Given the description of an element on the screen output the (x, y) to click on. 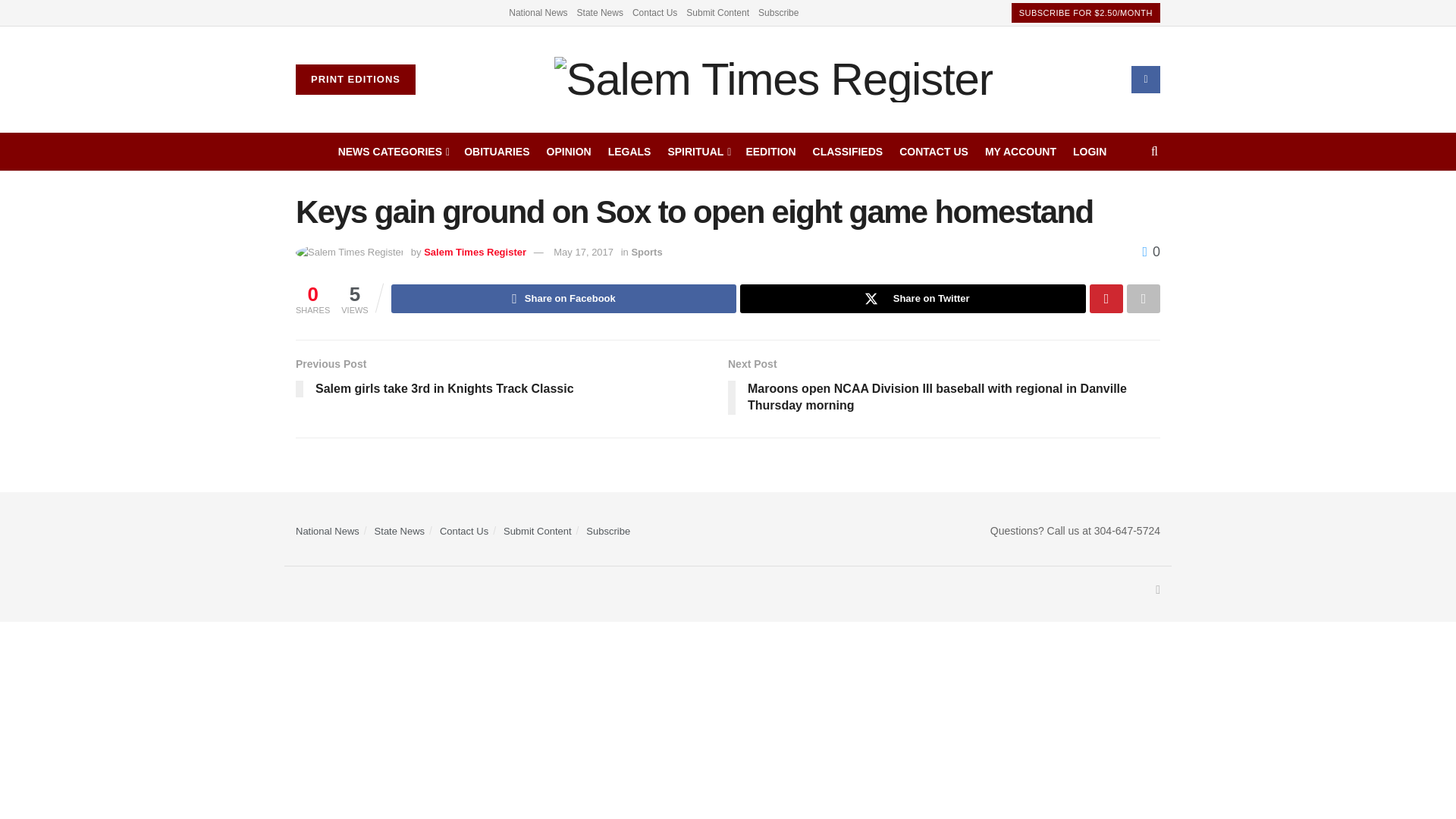
LOGIN (1089, 151)
CLASSIFIEDS (847, 151)
Subscribe (777, 12)
MY ACCOUNT (1021, 151)
NEWS CATEGORIES (392, 151)
EEDITION (769, 151)
National News (537, 12)
CONTACT US (933, 151)
OBITUARIES (496, 151)
PRINT EDITIONS (354, 79)
